Given the description of an element on the screen output the (x, y) to click on. 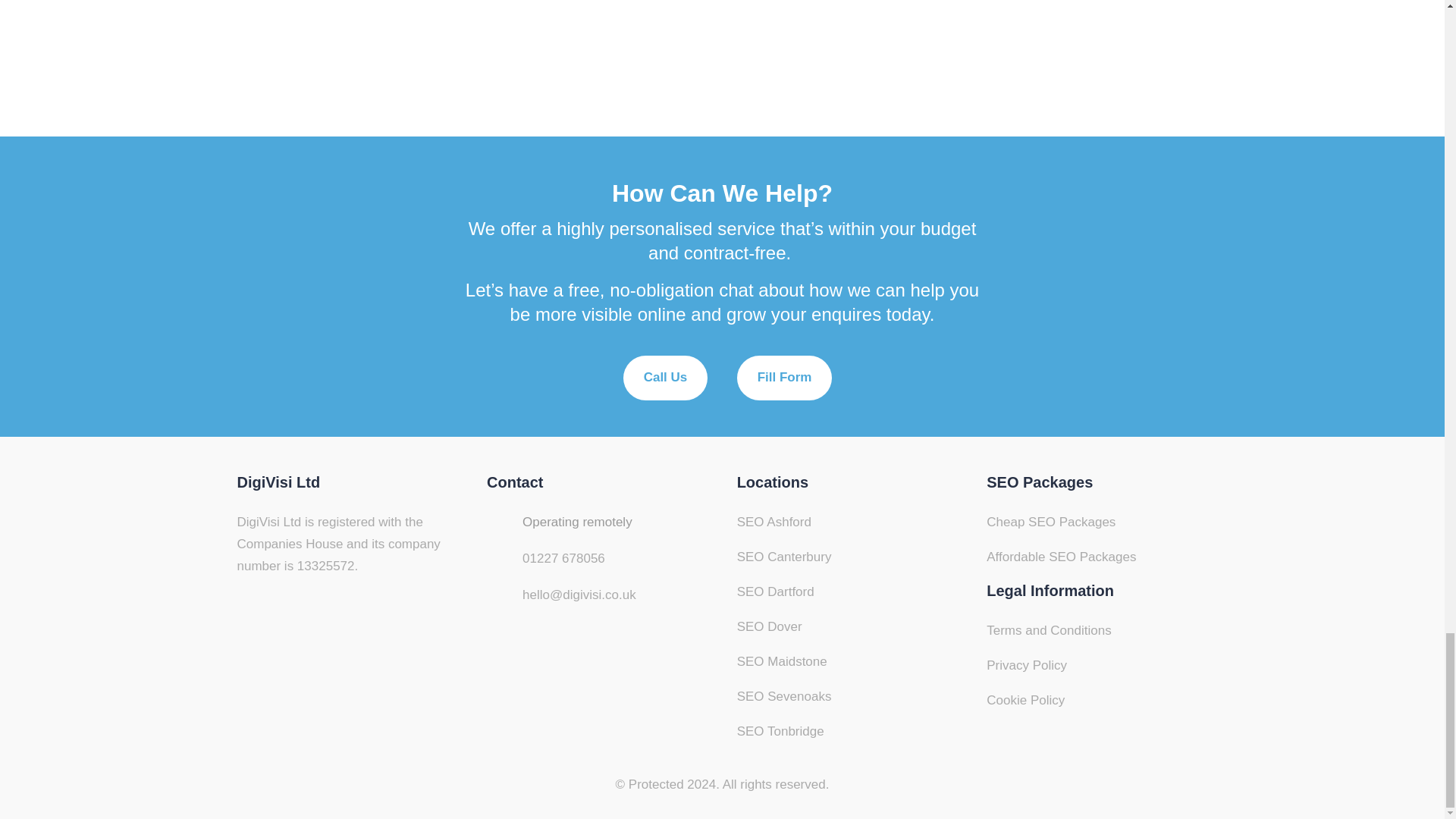
The FX Works Website Speed-Metrics (721, 37)
